Given the description of an element on the screen output the (x, y) to click on. 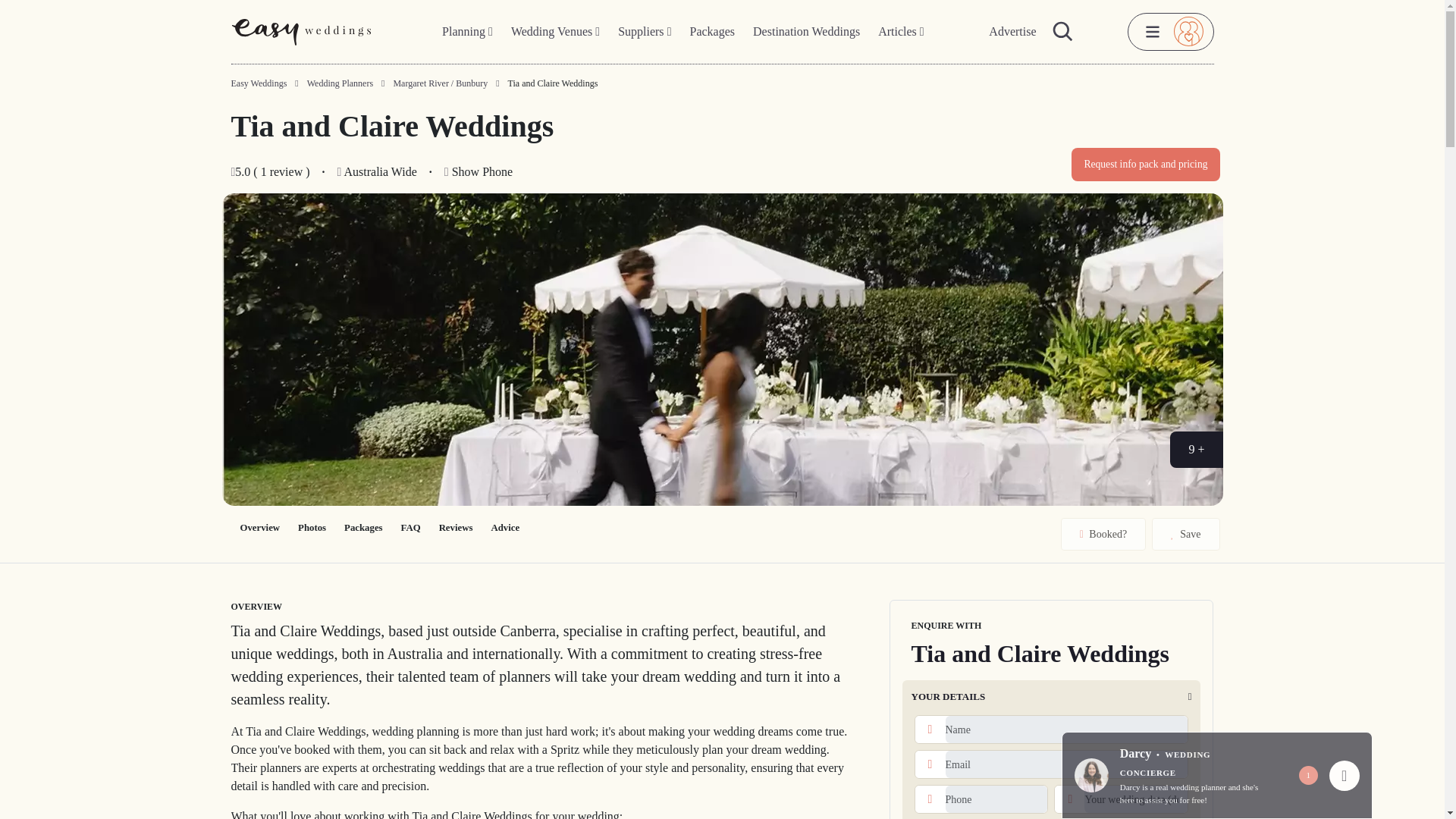
Wedding Planners (339, 83)
Save (1185, 533)
Request info pack and pricing (1145, 164)
Packages (712, 31)
FAQ (410, 528)
Suppliers (644, 31)
Advice (504, 528)
Photos (311, 528)
Booked? (1103, 533)
Destination Weddings (806, 31)
Reviews (455, 528)
Overview (259, 528)
Packages (362, 528)
Articles (901, 31)
Wedding Venues (555, 31)
